Given the description of an element on the screen output the (x, y) to click on. 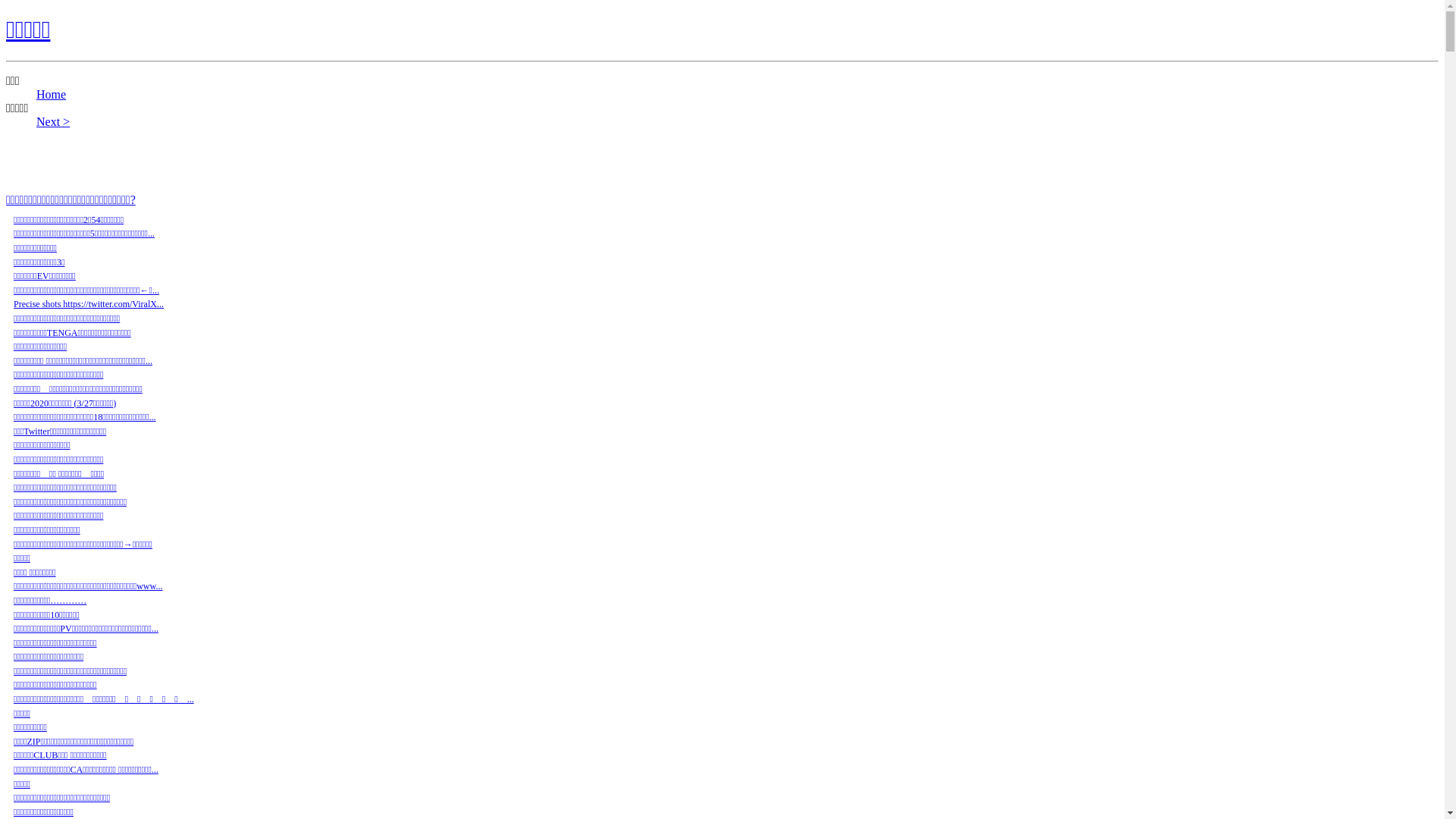
Home Element type: text (50, 93)
Precise shots https://twitter.com/ViralX... Element type: text (88, 303)
Next > Element type: text (52, 121)
